Given the description of an element on the screen output the (x, y) to click on. 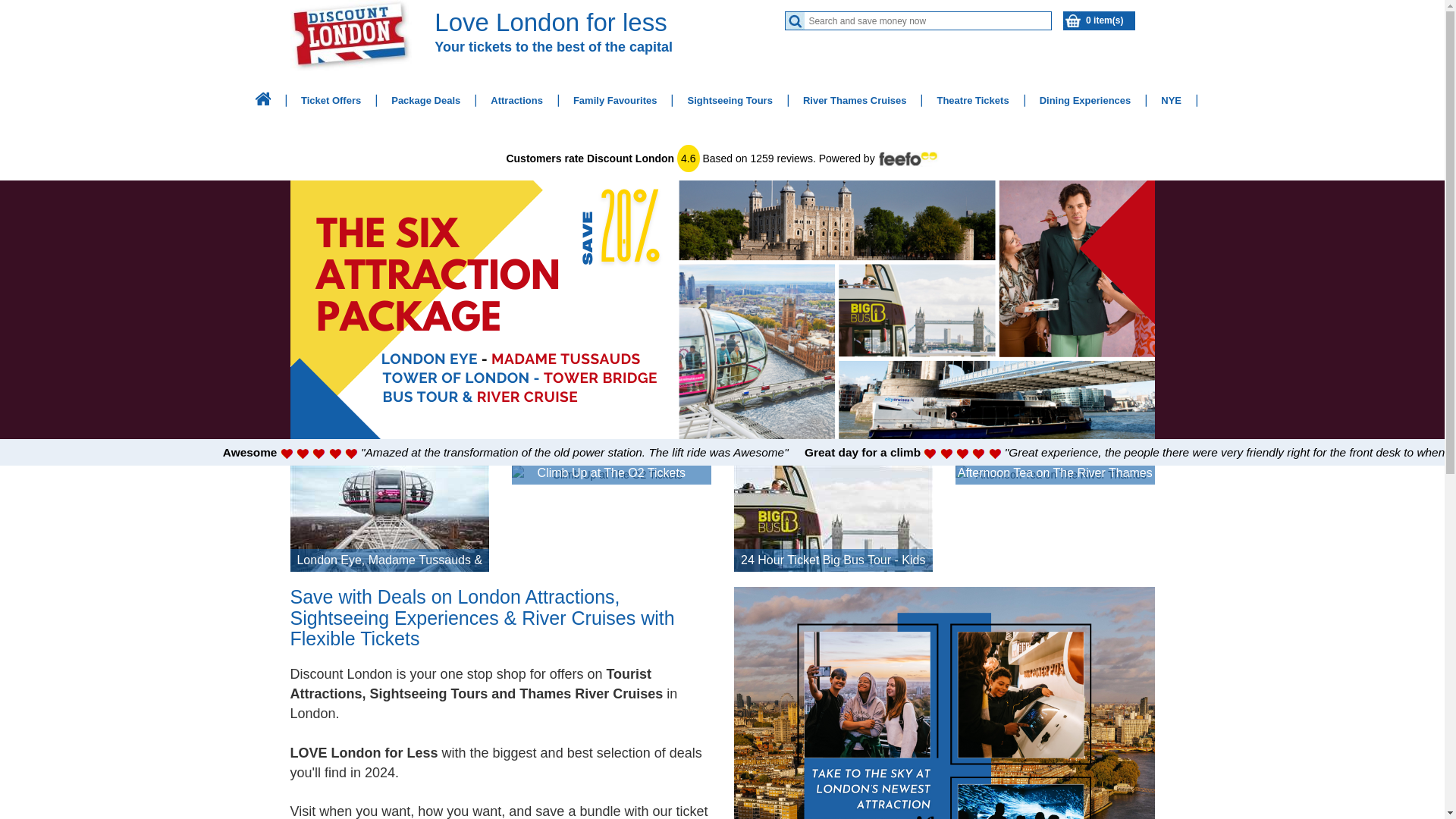
Ticket Offers (330, 100)
Attractions (516, 100)
Discount London (263, 98)
Family Favourites (615, 100)
Package Deals (425, 100)
